Given the description of an element on the screen output the (x, y) to click on. 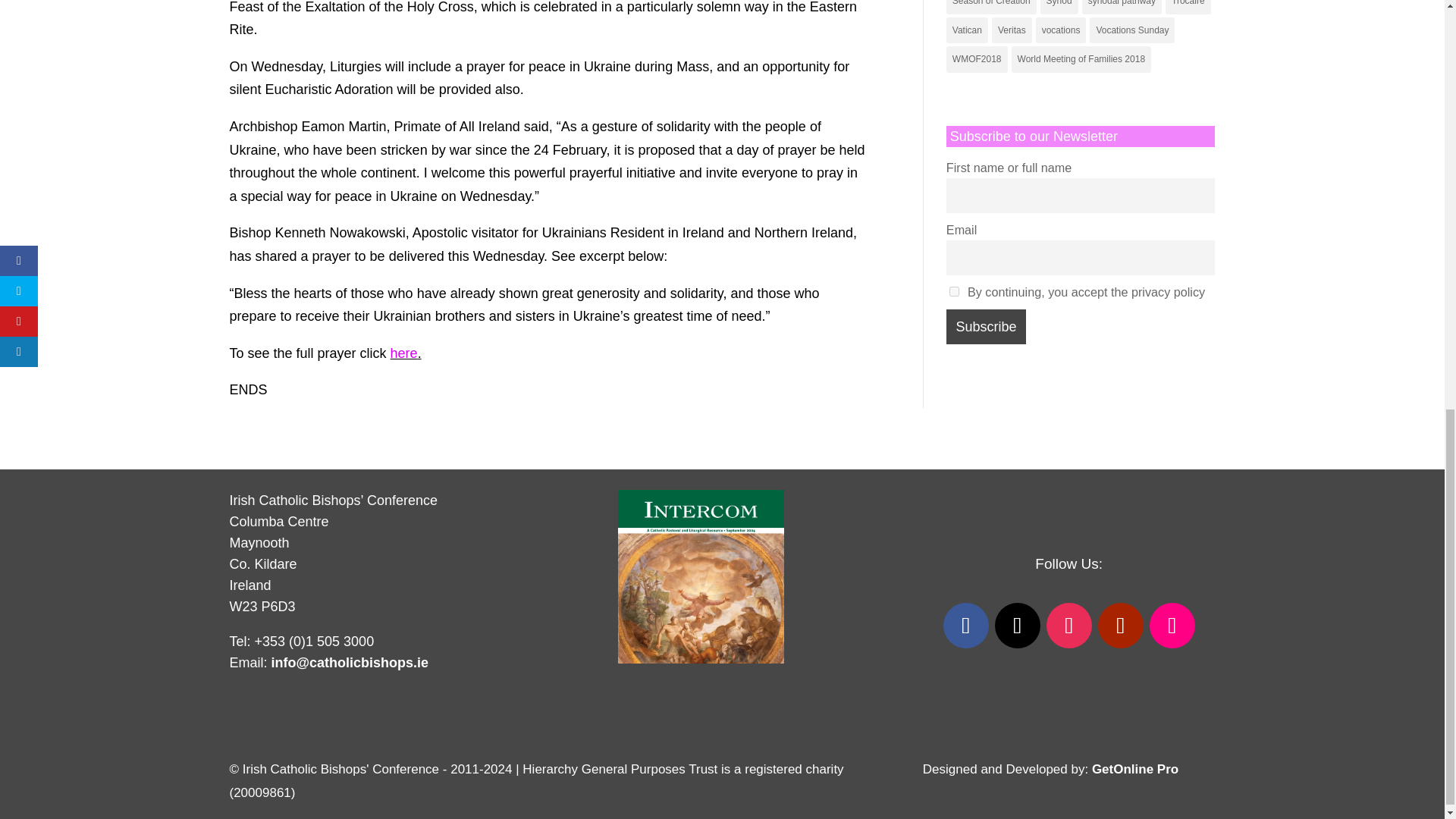
Follow on Youtube (1119, 625)
Follow on Facebook (965, 625)
Follow on X (1017, 625)
on (954, 291)
Follow on Instagram (1069, 625)
Follow on Flickr (1172, 625)
Subscribe (986, 326)
here (403, 353)
